Given the description of an element on the screen output the (x, y) to click on. 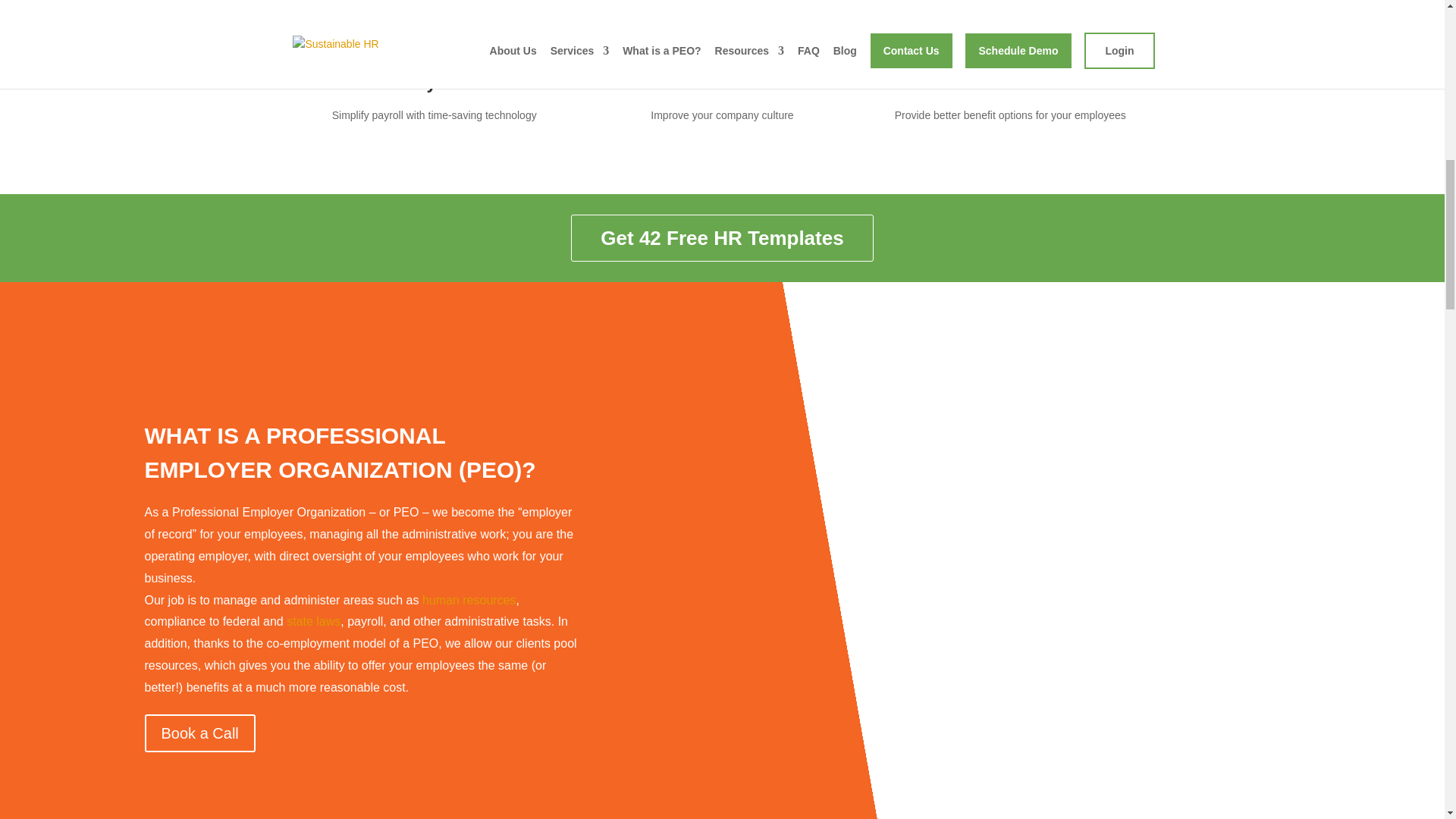
Get 42 Free HR Templates (721, 237)
Book a Call (199, 733)
state laws (313, 621)
human resources (469, 599)
